Given the description of an element on the screen output the (x, y) to click on. 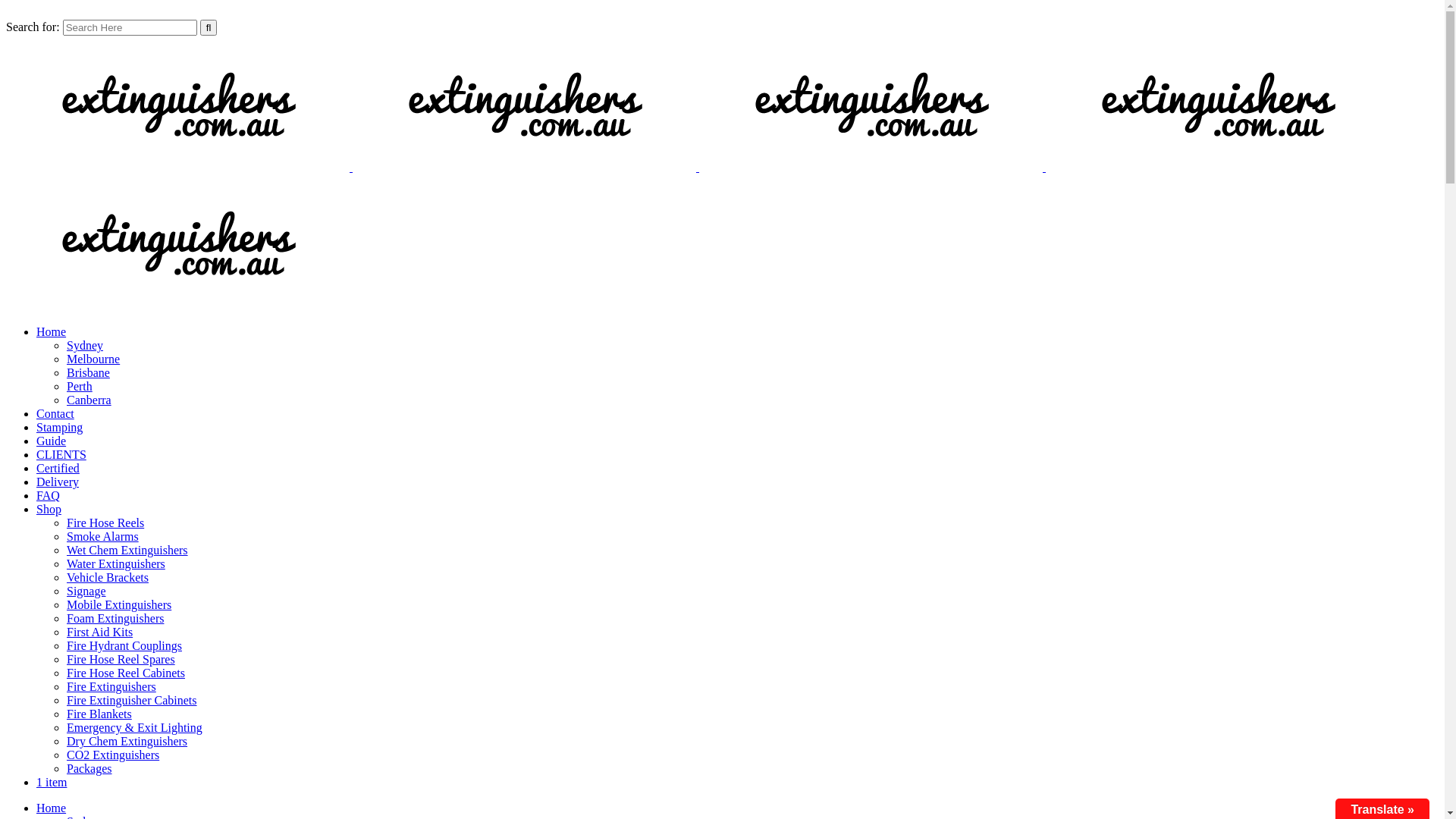
Shop Element type: text (48, 508)
Foam Extinguishers Element type: text (114, 617)
Sydney Element type: text (84, 344)
Mobile Extinguishers Element type: text (118, 604)
Fire Extinguishers Element type: text (111, 686)
Canberra Element type: text (88, 399)
First Aid Kits Element type: text (99, 631)
Fire Hose Reel Spares Element type: text (120, 658)
Packages Element type: text (89, 768)
Home Element type: text (50, 807)
Stamping Element type: text (59, 426)
Smoke Alarms Element type: text (102, 536)
0402560232 Element type: text (240, 12)
Fire Hose Reel Cabinets Element type: text (125, 672)
1 item Element type: text (51, 781)
Wet Chem Extinguishers Element type: text (127, 549)
Fire Extinguisher Cabinets Element type: text (131, 699)
adrian@sydneyextinguishers.com.au Element type: text (101, 12)
Dry Chem Extinguishers Element type: text (126, 740)
CLIENTS Element type: text (61, 454)
Perth Element type: text (79, 385)
Certified Element type: text (57, 467)
Water Extinguishers Element type: text (115, 563)
Fire Blankets Element type: text (98, 713)
CO2 Extinguishers Element type: text (112, 754)
Home Element type: text (50, 331)
Fire Hydrant Couplings Element type: text (124, 645)
Brisbane Element type: text (87, 372)
Fire Hose Reels Element type: text (105, 522)
Melbourne Element type: text (92, 358)
Contact Element type: text (55, 413)
Vehicle Brackets Element type: text (107, 577)
Emergency & Exit Lighting Element type: text (134, 727)
FAQ Element type: text (47, 495)
Guide Element type: text (50, 440)
Signage Element type: text (86, 590)
Delivery Element type: text (57, 481)
